Given the description of an element on the screen output the (x, y) to click on. 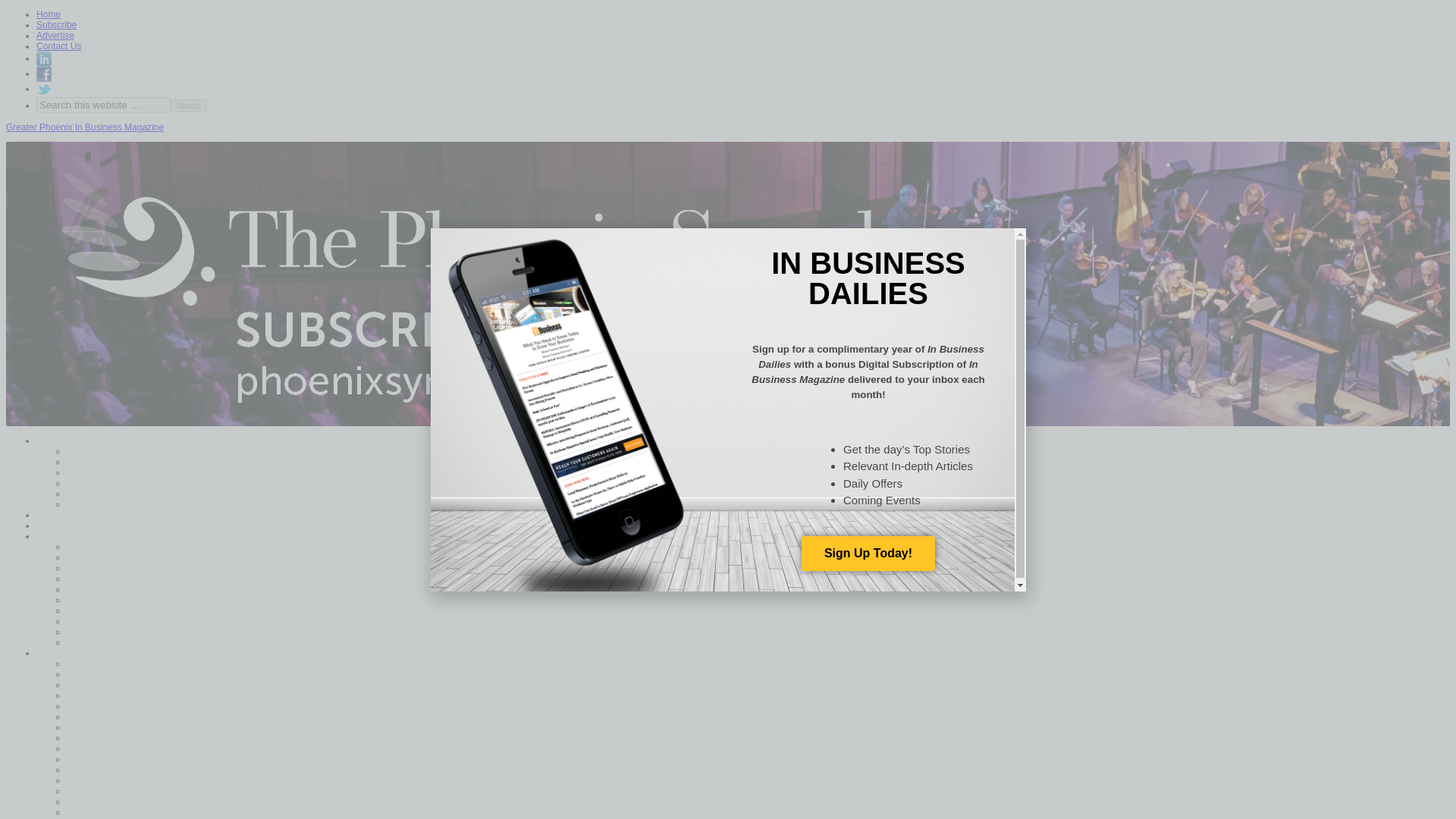
Departments (115, 472)
Departments (84, 652)
SEE All TOPICS (122, 642)
Subscribe (56, 24)
Contact Us (58, 45)
Daily Emails Sign Up (131, 493)
Auto (98, 716)
Top Stories (82, 515)
Briefs (100, 737)
Latest Issue (113, 451)
Books (101, 727)
Home (71, 440)
SPECIAL SECTION (129, 695)
En Negocios (114, 483)
Past Issues (112, 504)
